Given the description of an element on the screen output the (x, y) to click on. 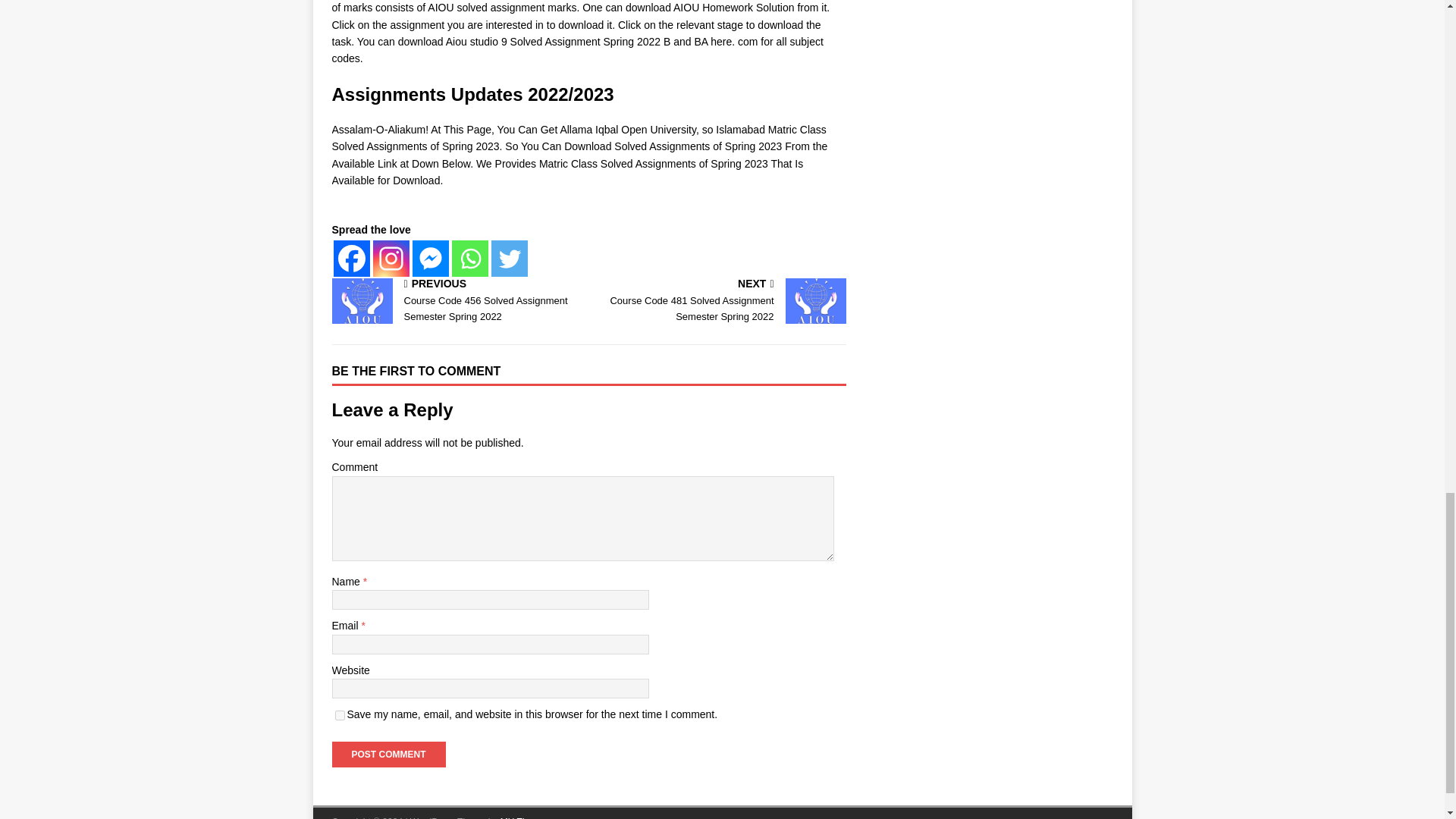
Post Comment (388, 754)
Twitter (509, 258)
yes (339, 715)
Whatsapp (469, 258)
Post Comment (720, 301)
Instagram (388, 754)
Facebook (390, 258)
